Given the description of an element on the screen output the (x, y) to click on. 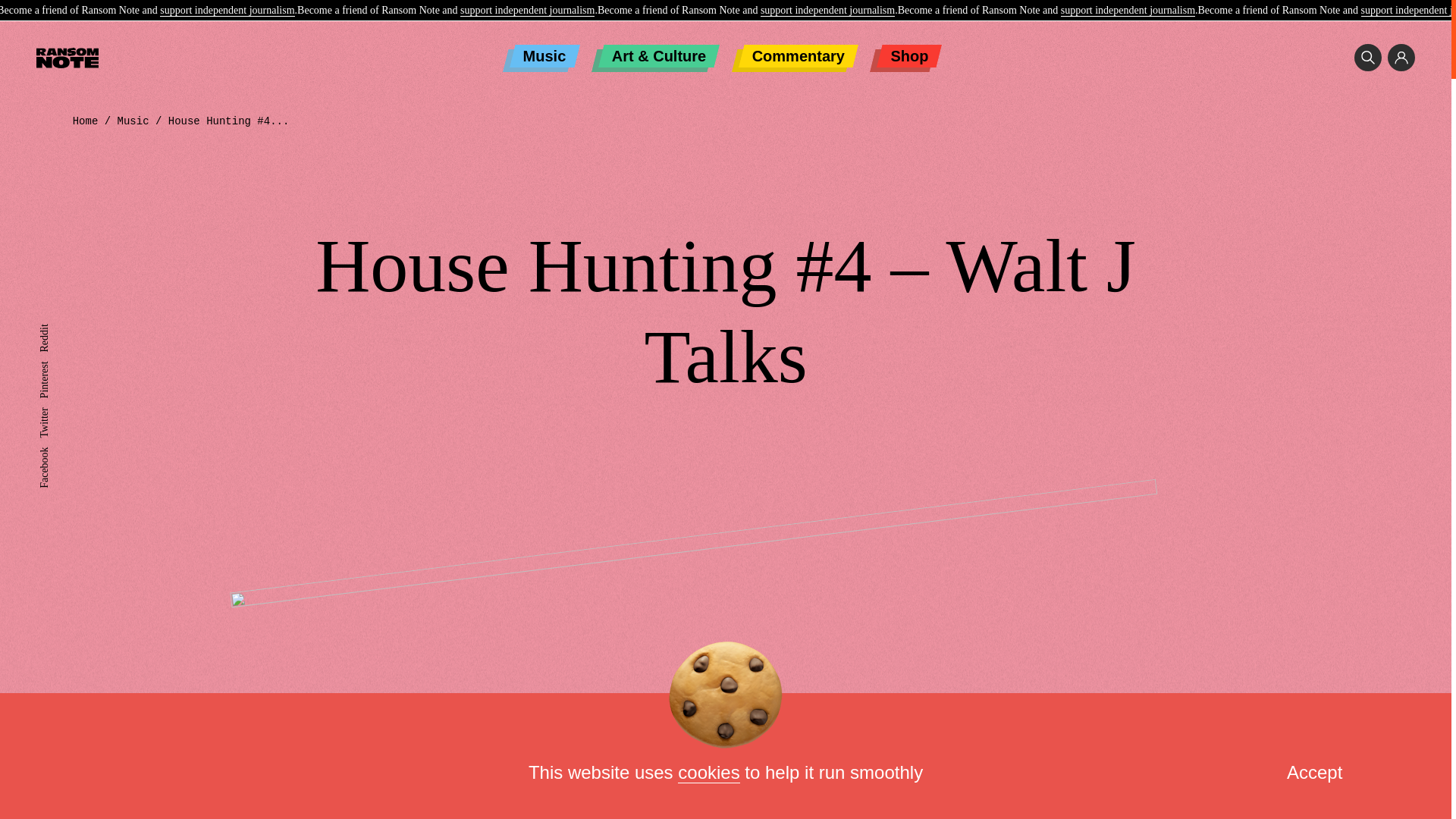
support independent journalism (527, 10)
support independent journalism (227, 10)
Music (544, 56)
Pinterest (57, 367)
Twitter (53, 413)
Shop (909, 56)
Home (85, 121)
support independent journalism (1128, 10)
Reddit (52, 329)
Facebook (59, 452)
